Given the description of an element on the screen output the (x, y) to click on. 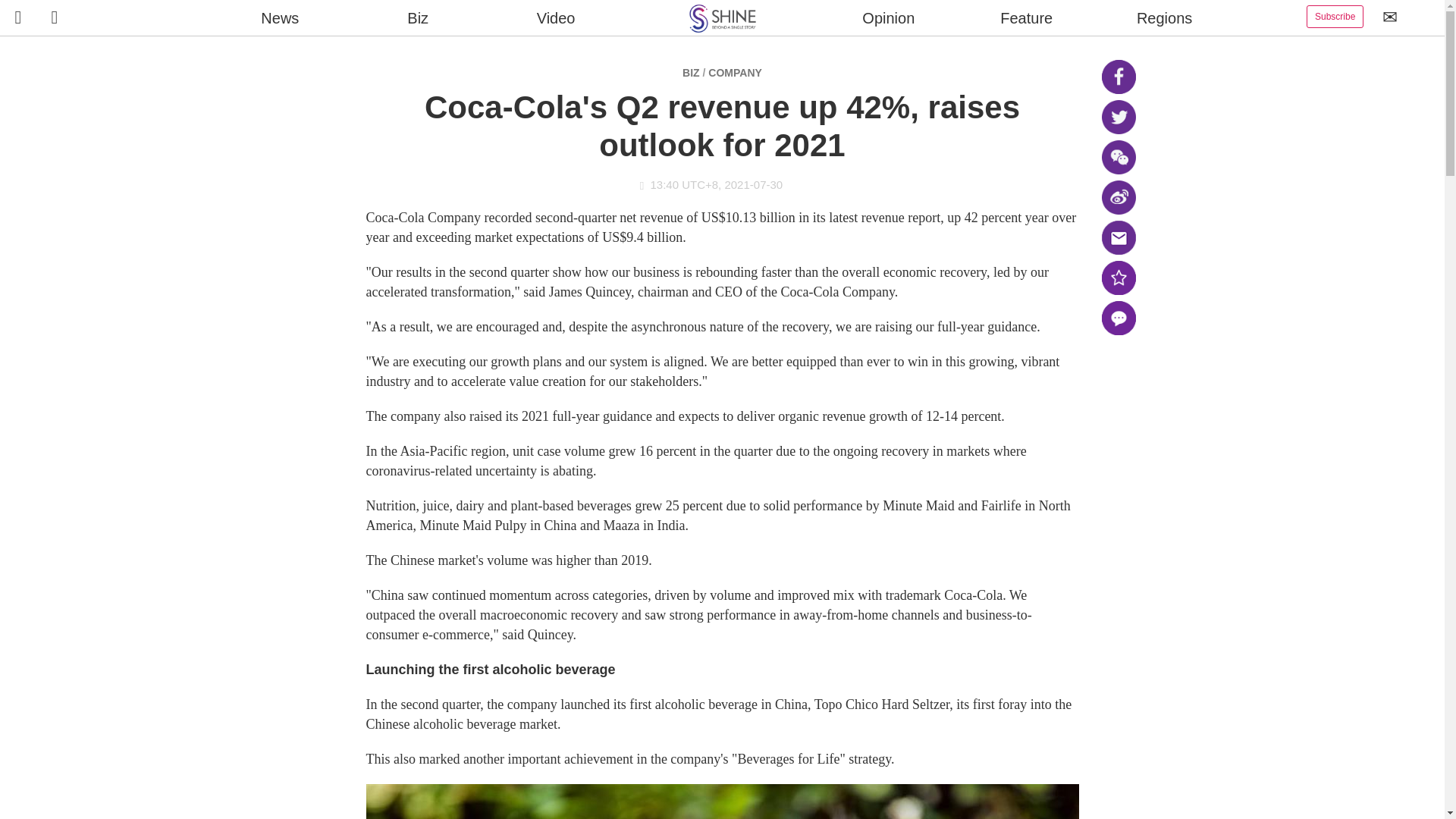
COMPANY (734, 72)
BIZ (691, 72)
Add to favorites (1117, 277)
Share your comments (1117, 317)
Share via email (1117, 237)
